Given the description of an element on the screen output the (x, y) to click on. 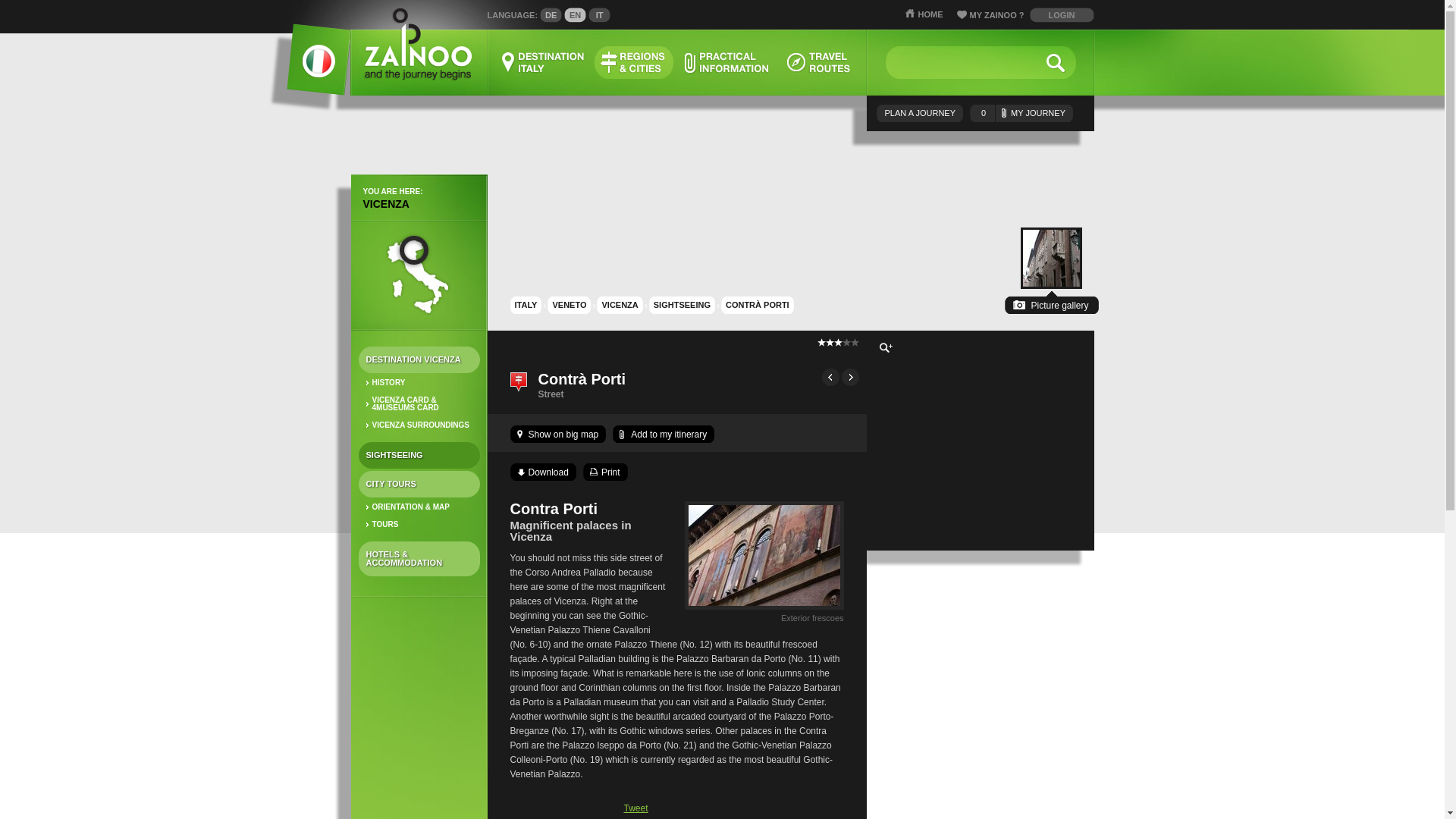
HOME (924, 14)
SIGHTSEEING (418, 455)
EN (575, 14)
Advertisement (979, 678)
TOURS (418, 524)
Print (605, 471)
CITY TOURS (418, 483)
DE (551, 14)
IT (599, 14)
ITALY (525, 304)
